Given the description of an element on the screen output the (x, y) to click on. 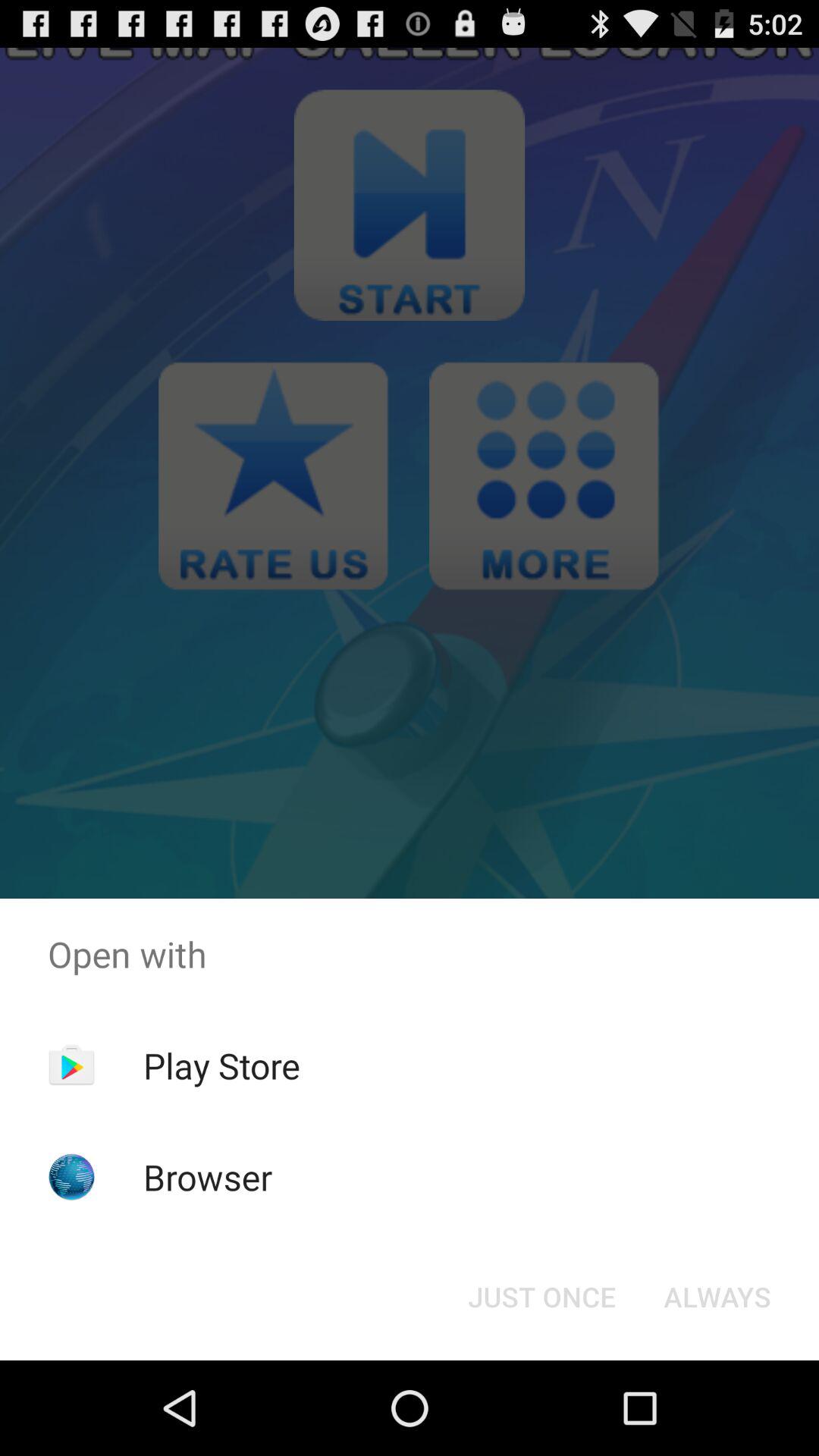
tap icon at the bottom (541, 1296)
